Given the description of an element on the screen output the (x, y) to click on. 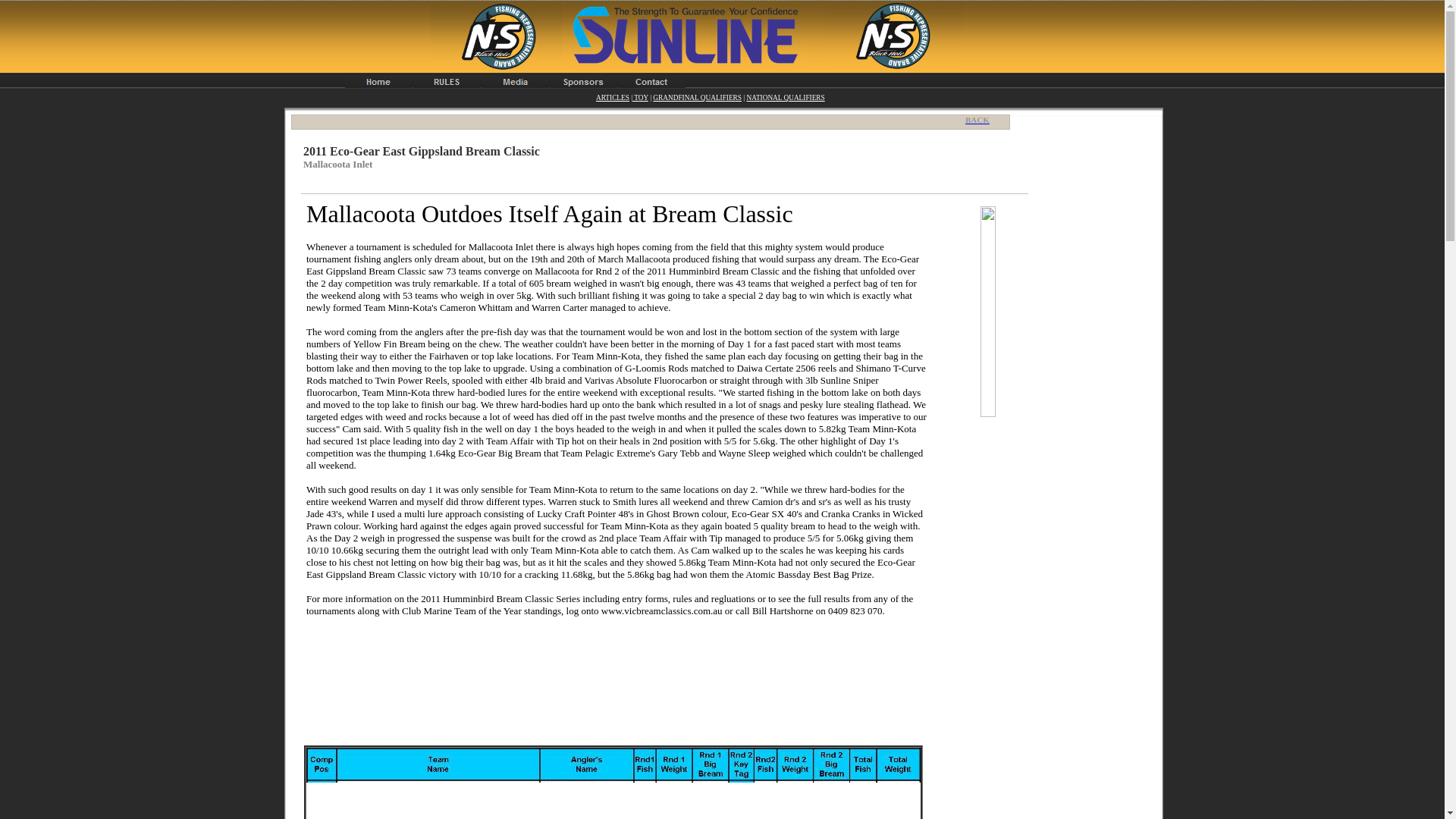
NATIONAL QUALIFIERS (784, 97)
TOY (639, 97)
BACK (981, 119)
GRANDFINAL QUALIFIERS (696, 97)
ARTICLES (611, 97)
